Given the description of an element on the screen output the (x, y) to click on. 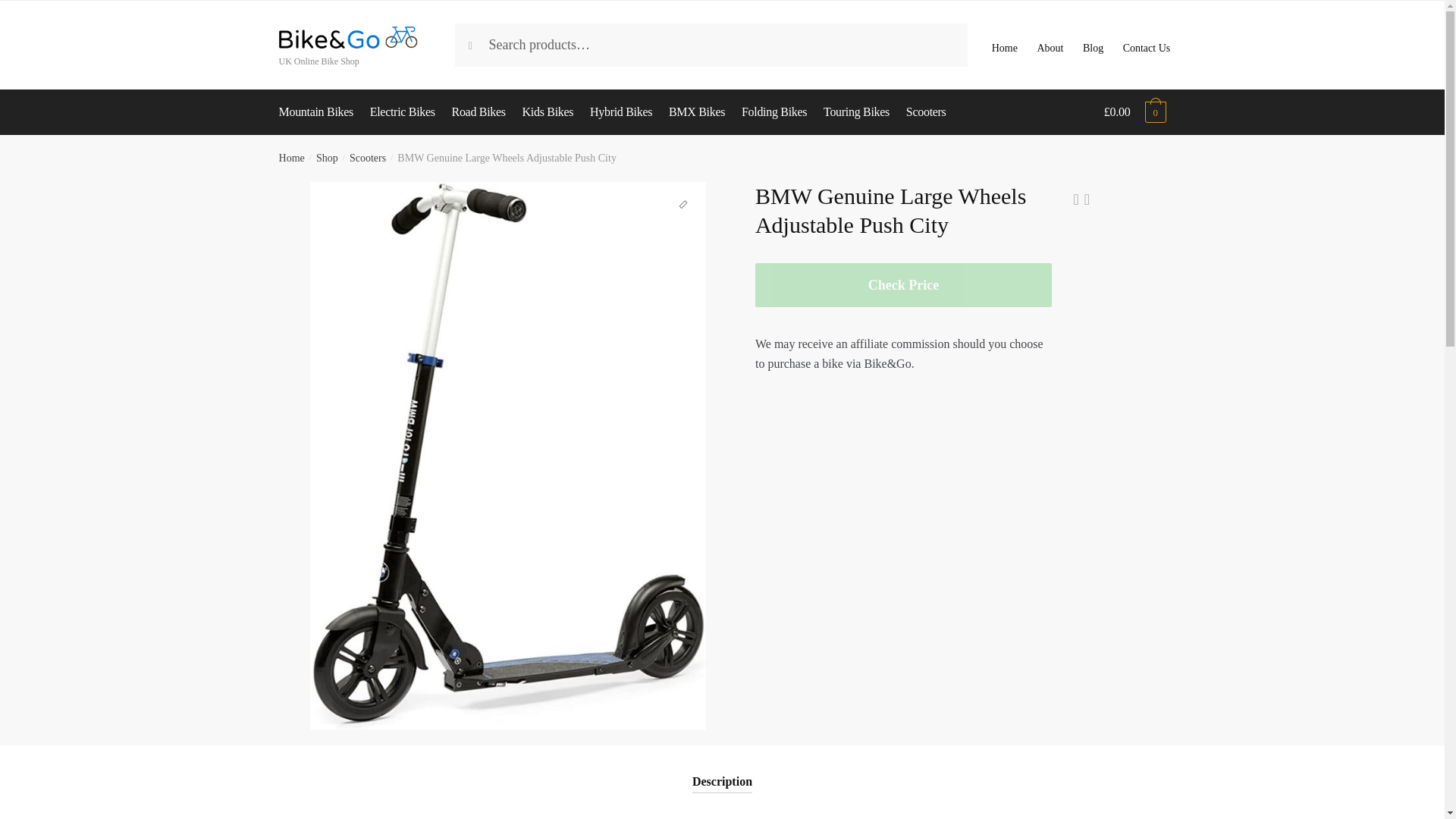
Blog (1093, 44)
Kids Bikes (546, 112)
Scooters (367, 157)
BMX Bikes (697, 112)
Mountain Bikes (320, 112)
Folding Bikes (774, 112)
Touring Bikes (856, 112)
View your shopping cart (1134, 112)
Check Price (903, 284)
Road Bikes (478, 112)
